Given the description of an element on the screen output the (x, y) to click on. 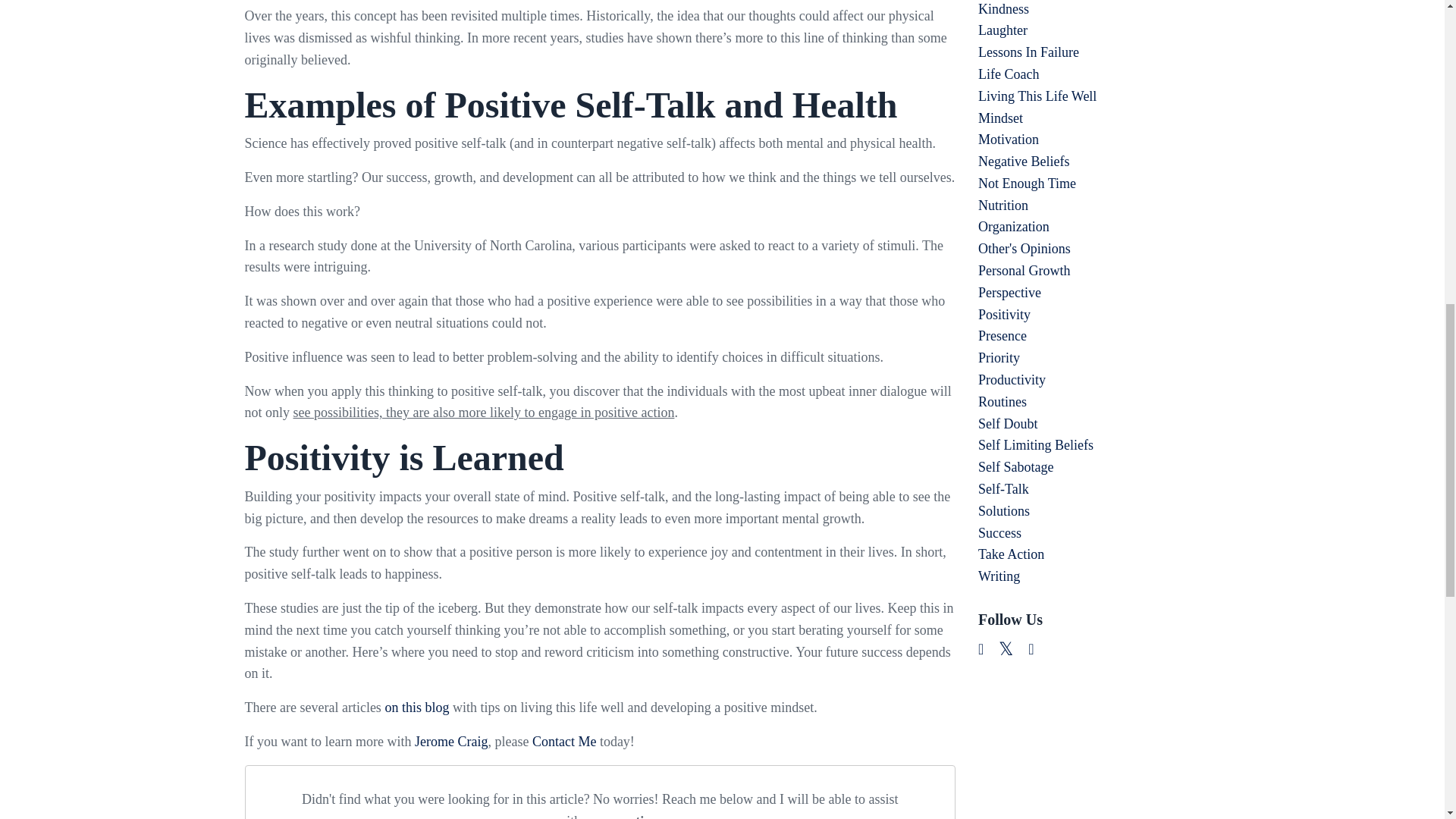
Contact Me (563, 741)
on this blog (416, 707)
Jerome Craig (450, 741)
